Given the description of an element on the screen output the (x, y) to click on. 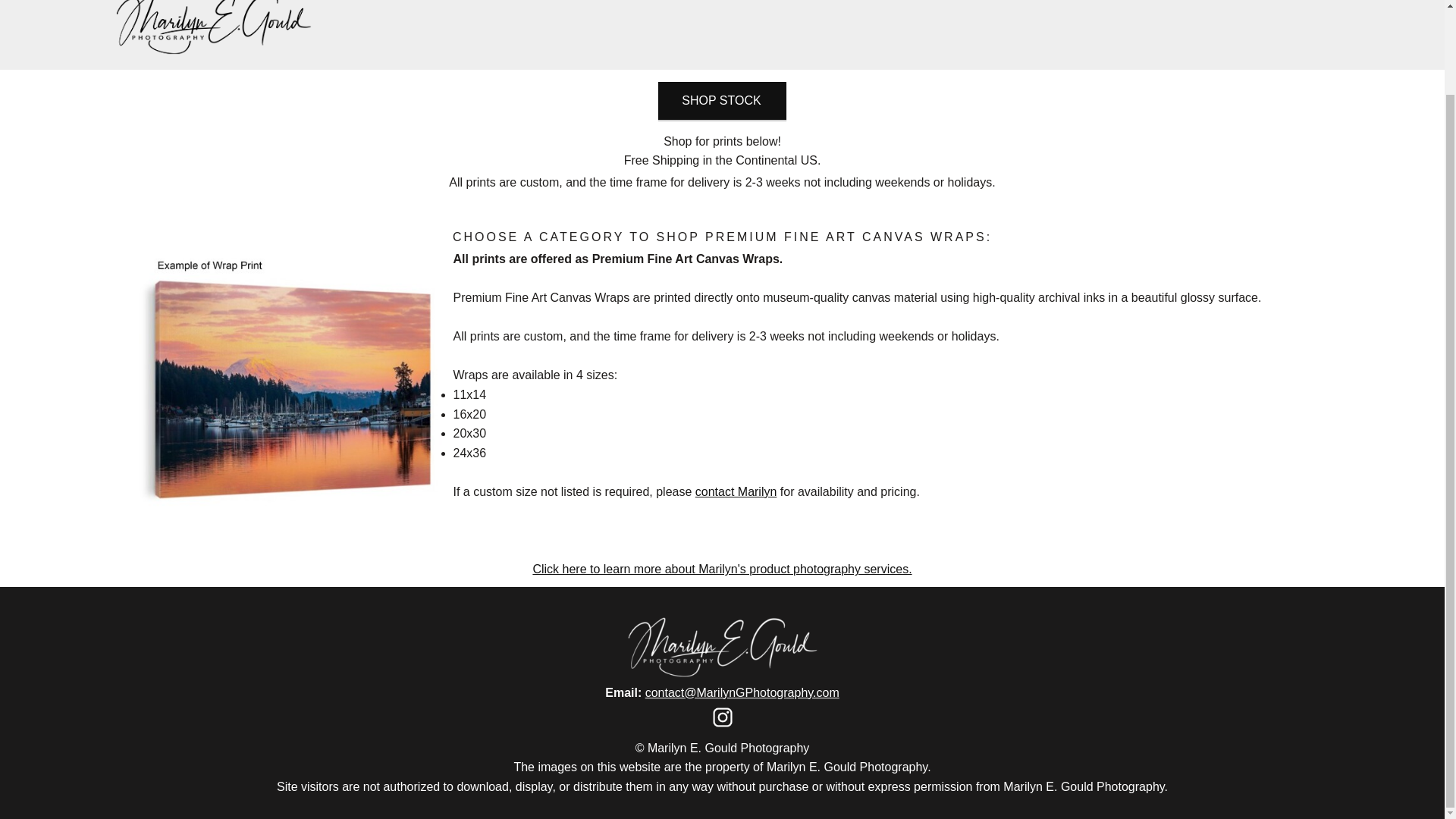
contact Marilyn (736, 491)
SHOP STOCK (722, 99)
